Given the description of an element on the screen output the (x, y) to click on. 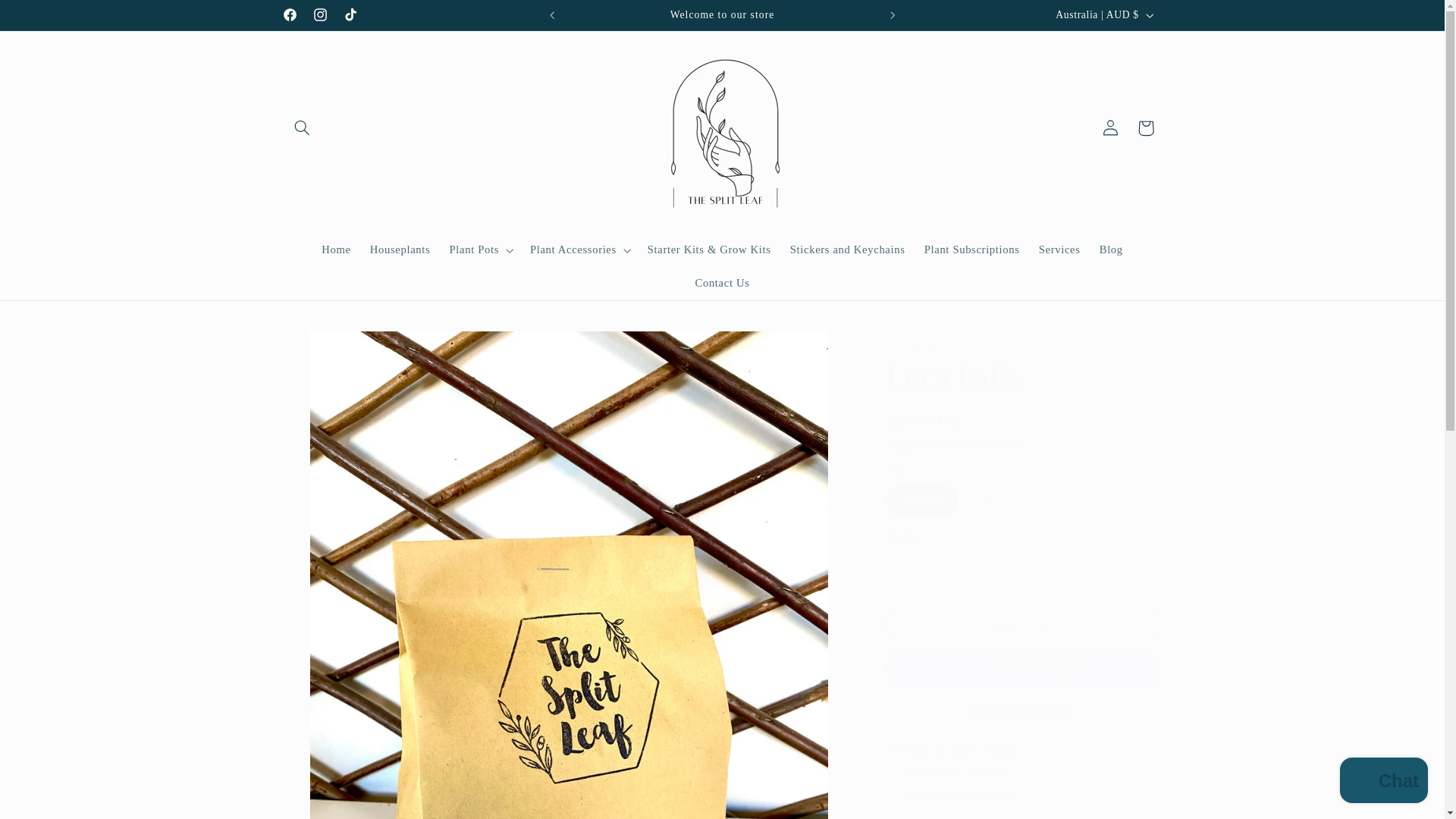
1 (939, 566)
Facebook (289, 15)
Houseplants (399, 249)
Instagram (319, 15)
TikTok (349, 15)
Shopify online store chat (1383, 781)
Skip to content (48, 18)
Home (337, 249)
